Given the description of an element on the screen output the (x, y) to click on. 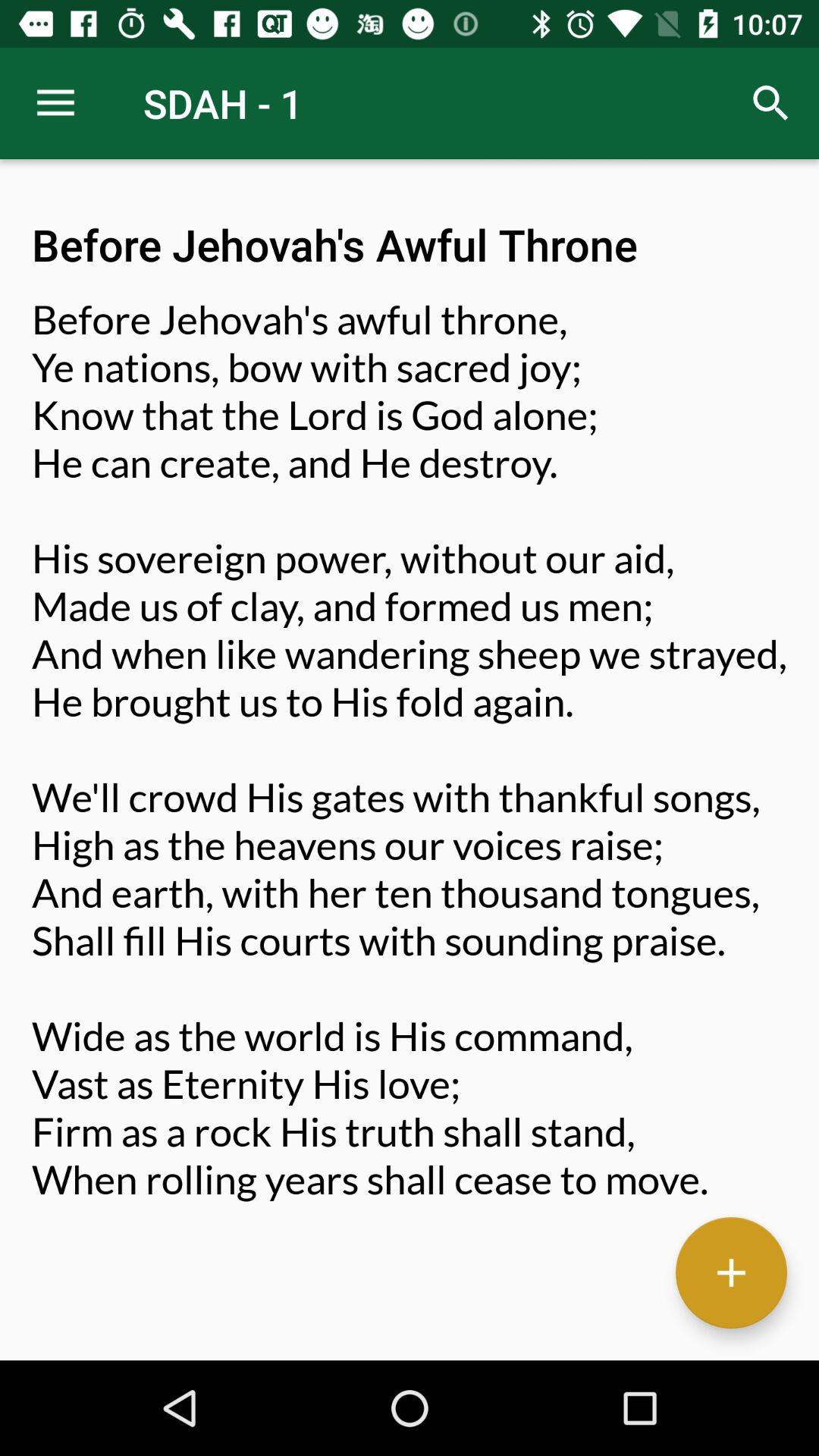
add button (731, 1272)
